Given the description of an element on the screen output the (x, y) to click on. 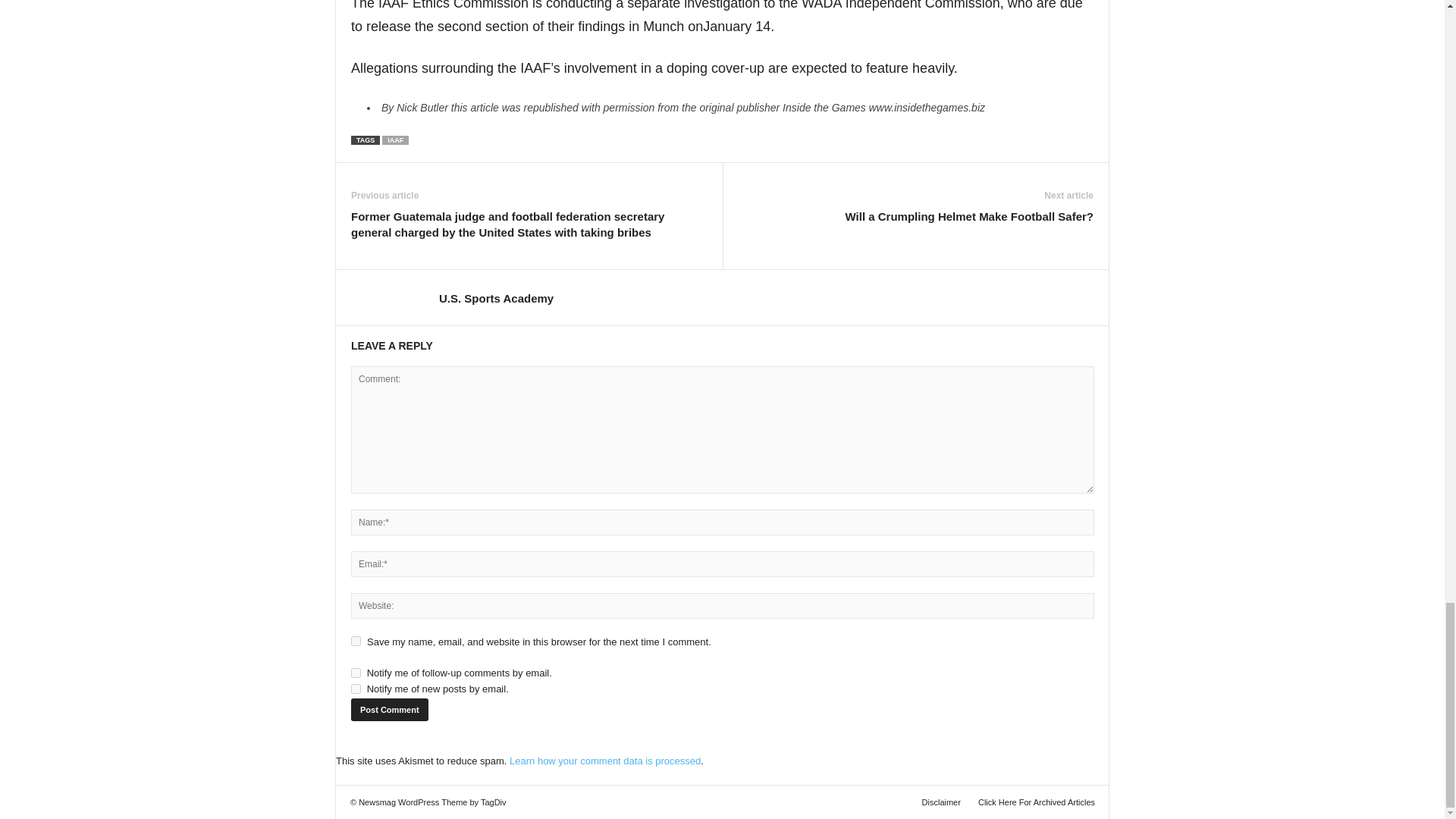
yes (355, 641)
subscribe (355, 688)
subscribe (355, 673)
Post Comment (389, 709)
